Given the description of an element on the screen output the (x, y) to click on. 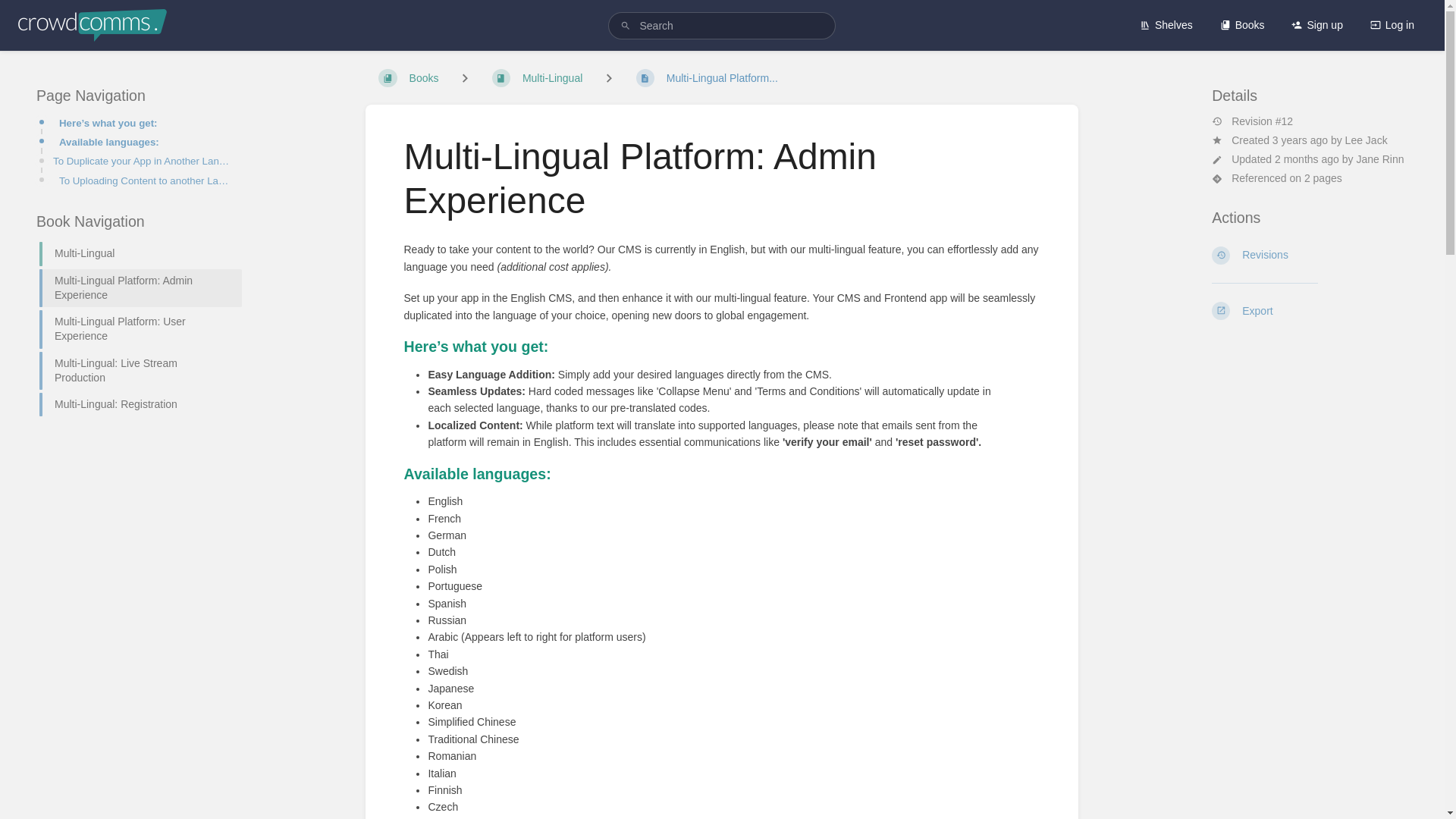
Multi-Lingual Platform... (706, 77)
Multi-Lingual (537, 77)
Multi-Lingual: Registration (134, 404)
Multi-Lingual Platform: Admin Experience (134, 288)
Sign up (1316, 24)
Shelves (1165, 24)
Referenced on 2 pages (1309, 178)
Log in (1392, 24)
Tue, May 28, 2024 11:35 AM (1307, 159)
Revisions (1310, 255)
